Given the description of an element on the screen output the (x, y) to click on. 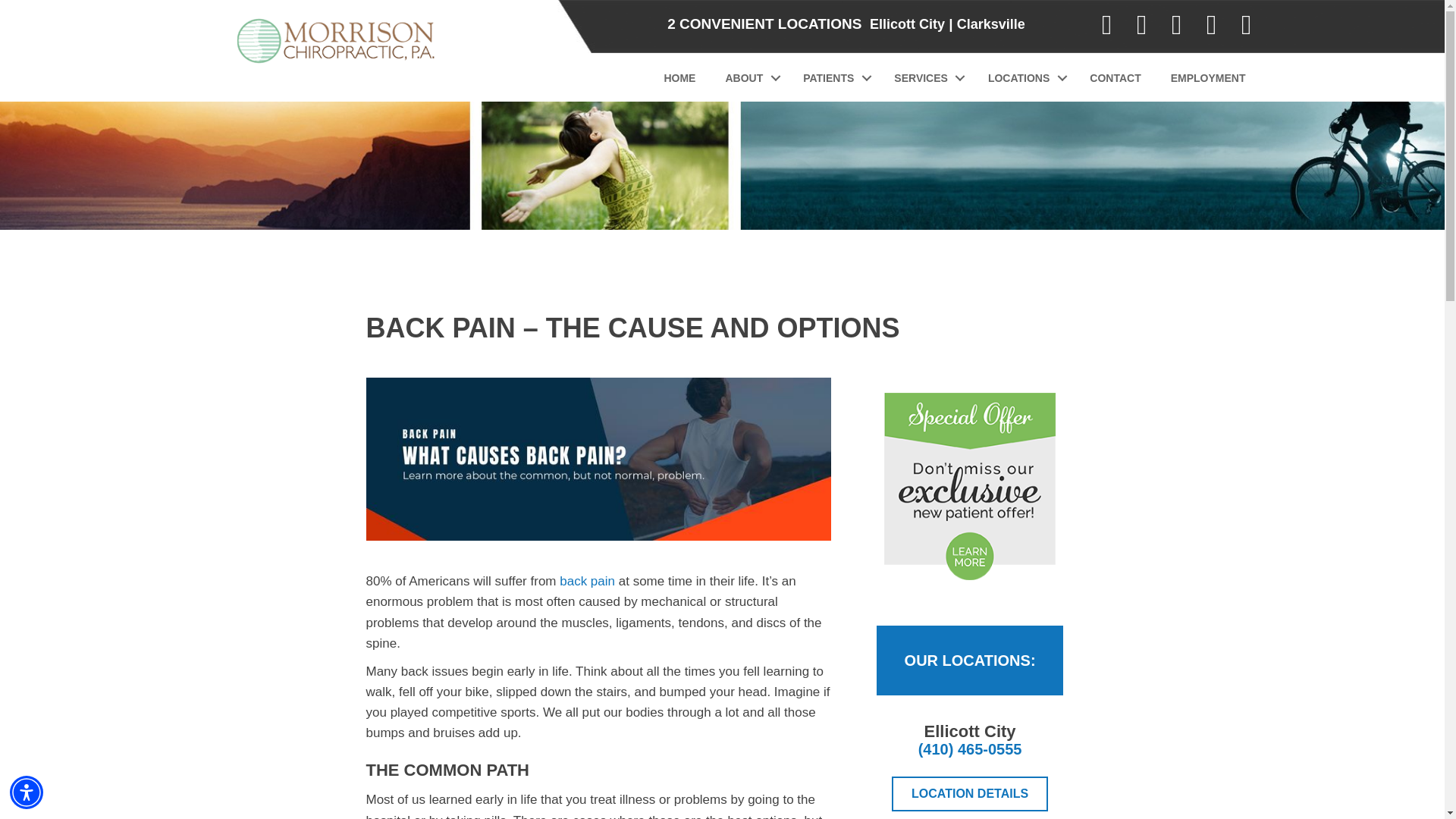
Ellicott City (906, 23)
SERVICES (925, 77)
Chiropractic Morrison Chiropractic (336, 40)
ABOUT (748, 77)
Accessibility Menu (26, 792)
HOME (679, 77)
PATIENTS (834, 77)
Clarksville (990, 23)
